Given the description of an element on the screen output the (x, y) to click on. 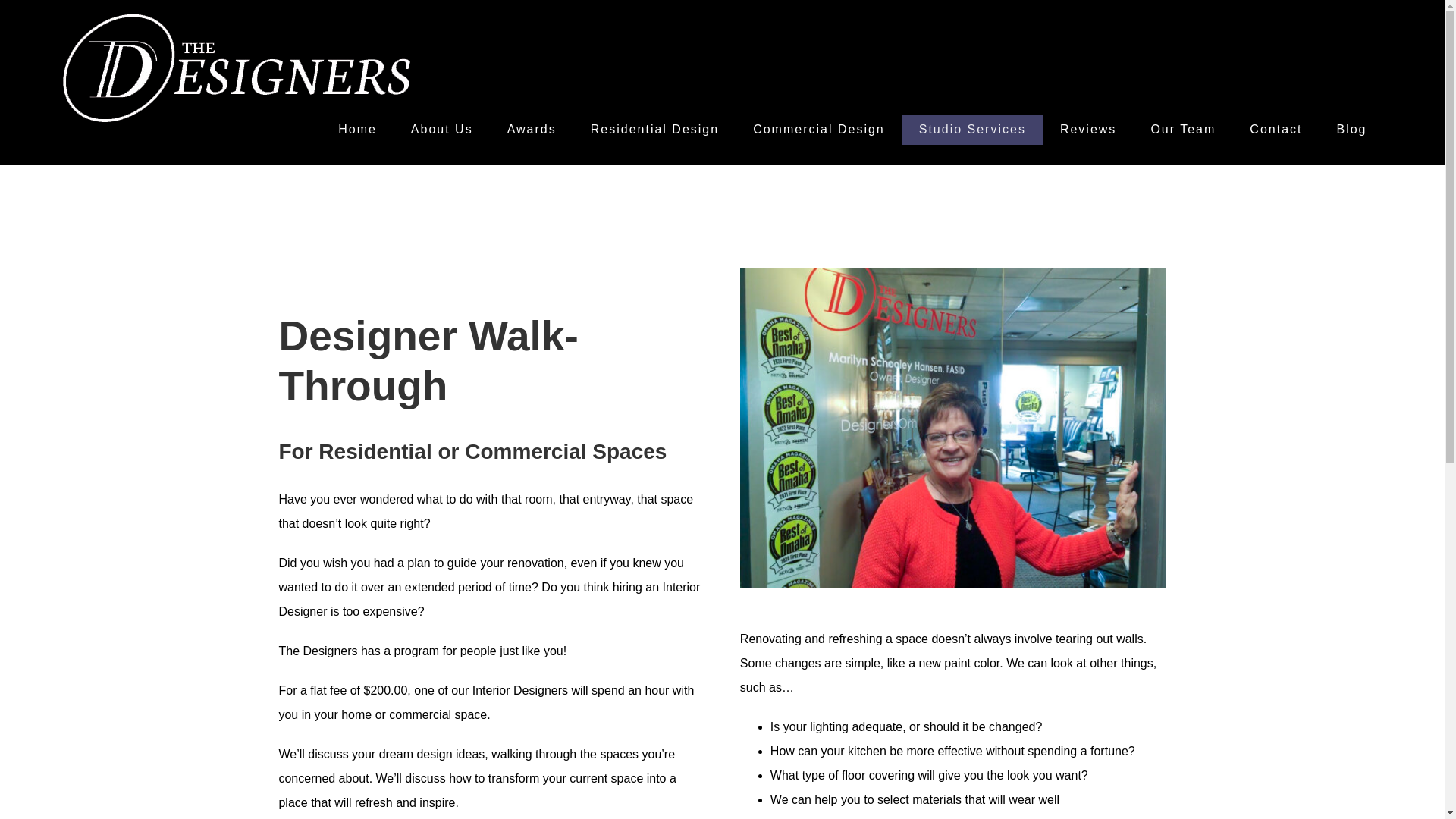
Residential Design (654, 129)
Commercial Design (819, 129)
About Us (441, 129)
Home (357, 129)
Reviews (1087, 129)
Contact (1276, 129)
Awards (531, 129)
Our Team (1183, 129)
Studio Services (971, 129)
